Given the description of an element on the screen output the (x, y) to click on. 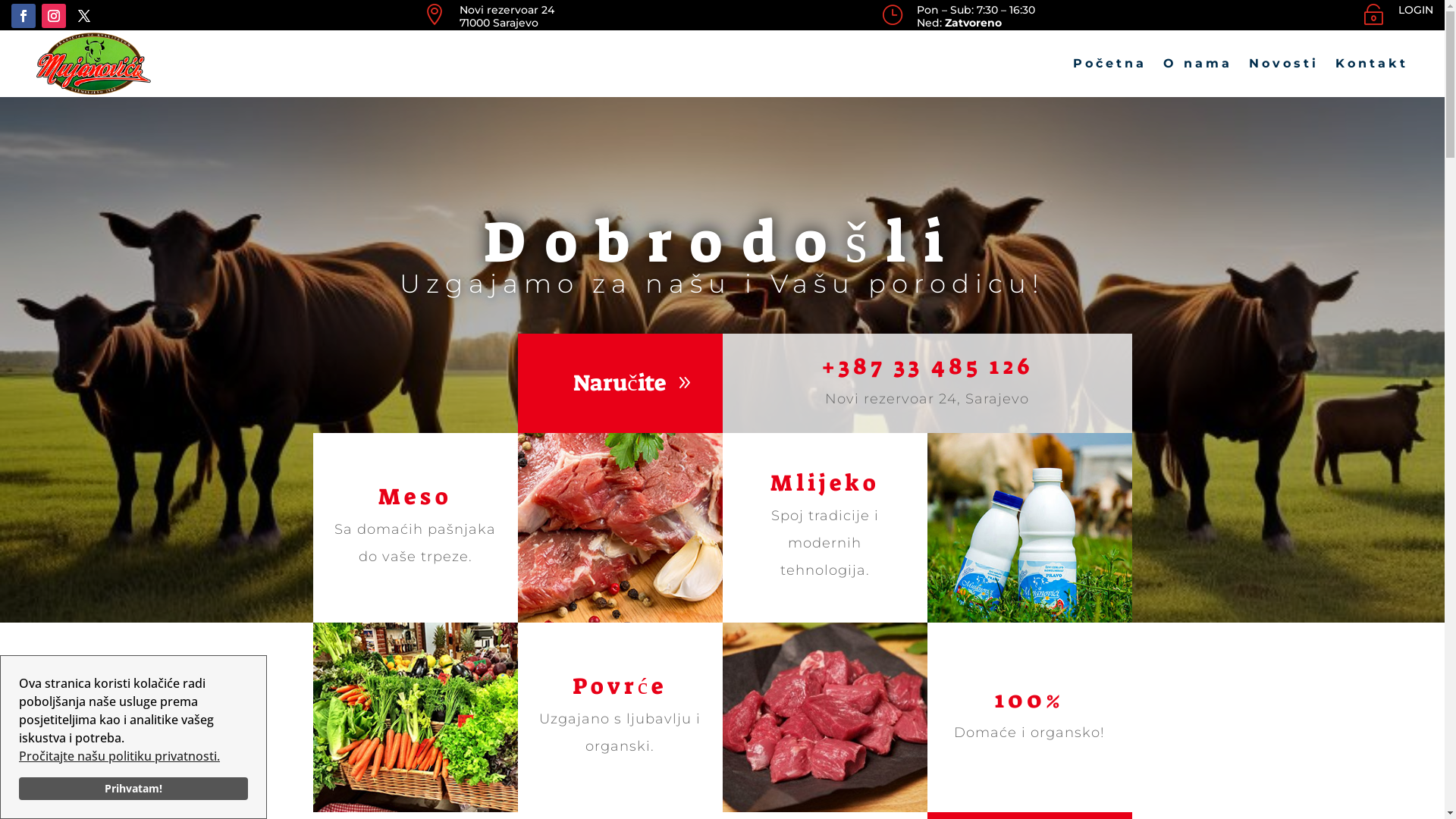
O nama Element type: text (1197, 63)
Kontakt Element type: text (1371, 63)
Novosti Element type: text (1283, 63)
Follow on Instagram Element type: hover (53, 15)
Follow on X Element type: hover (84, 15)
Prihvatam! Element type: text (132, 788)
Follow on Facebook Element type: hover (23, 15)
